Given the description of an element on the screen output the (x, y) to click on. 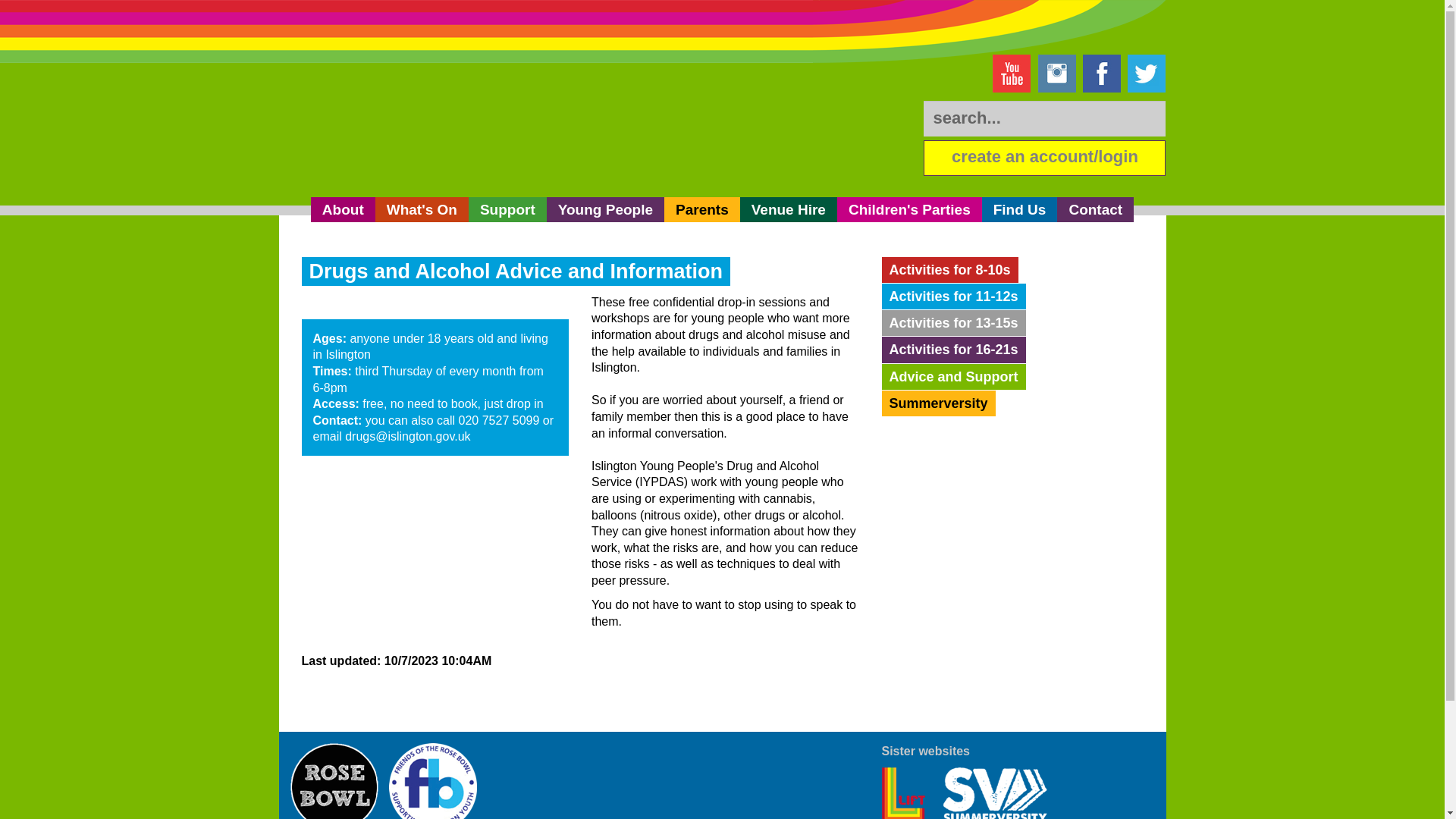
Follow Rose Bowl on Instagram (1056, 73)
Parents (701, 209)
Follow Rose Bowl on Facebook (1102, 73)
Advice and Support (952, 376)
Rose Bowl (333, 780)
Activities for 8-10s (948, 269)
Summerversity (937, 403)
Follow on Twitter (1146, 73)
Activities for 11-12s (952, 296)
Young People (605, 209)
